Given the description of an element on the screen output the (x, y) to click on. 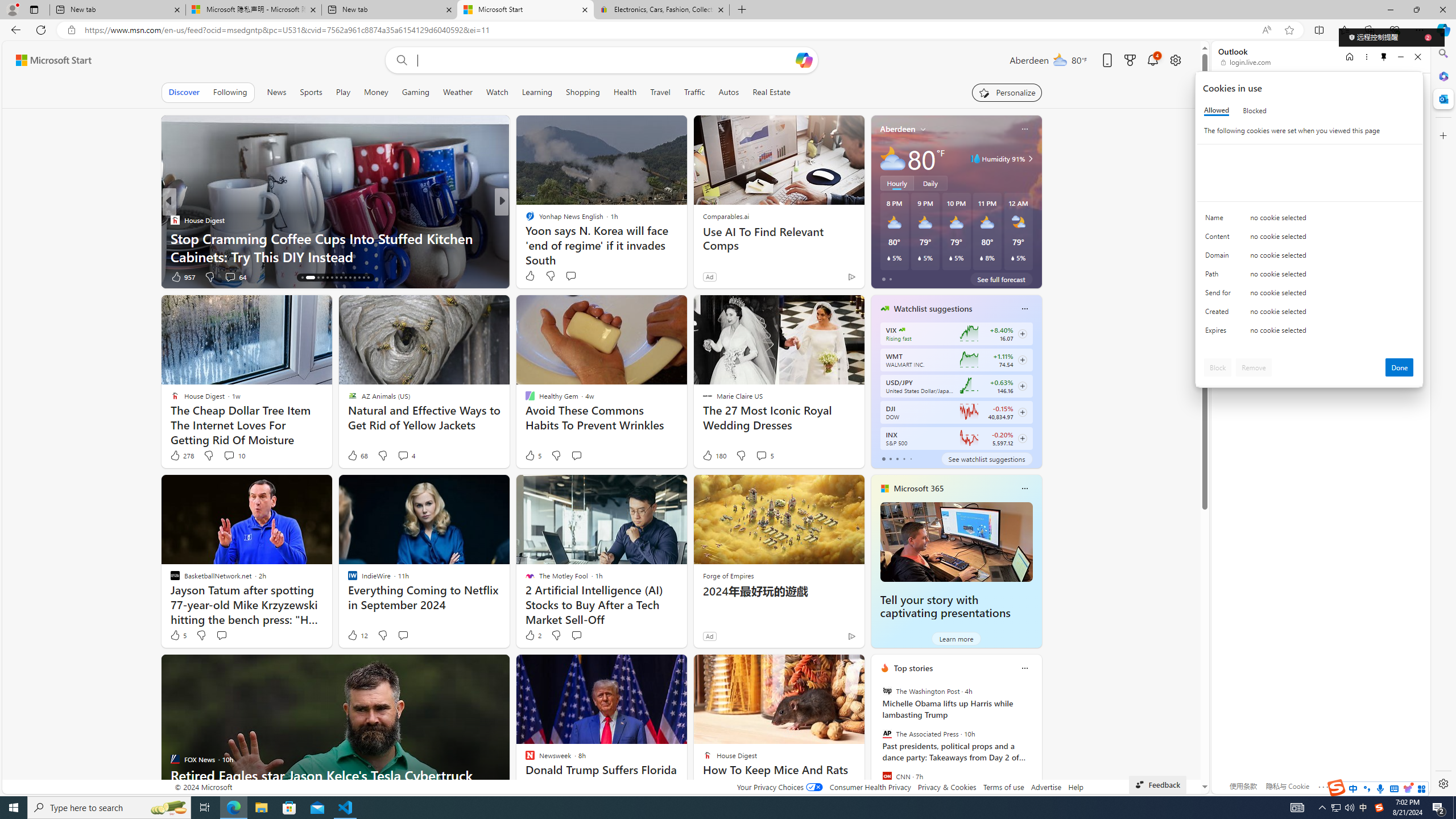
See watchlist suggestions (986, 459)
View comments 18 Comment (585, 276)
AutomationID: tab-19 (327, 277)
Path (1219, 276)
Pub file manipulation C++ API (684, 256)
Tell your story with captivating presentations (944, 606)
